Given the description of an element on the screen output the (x, y) to click on. 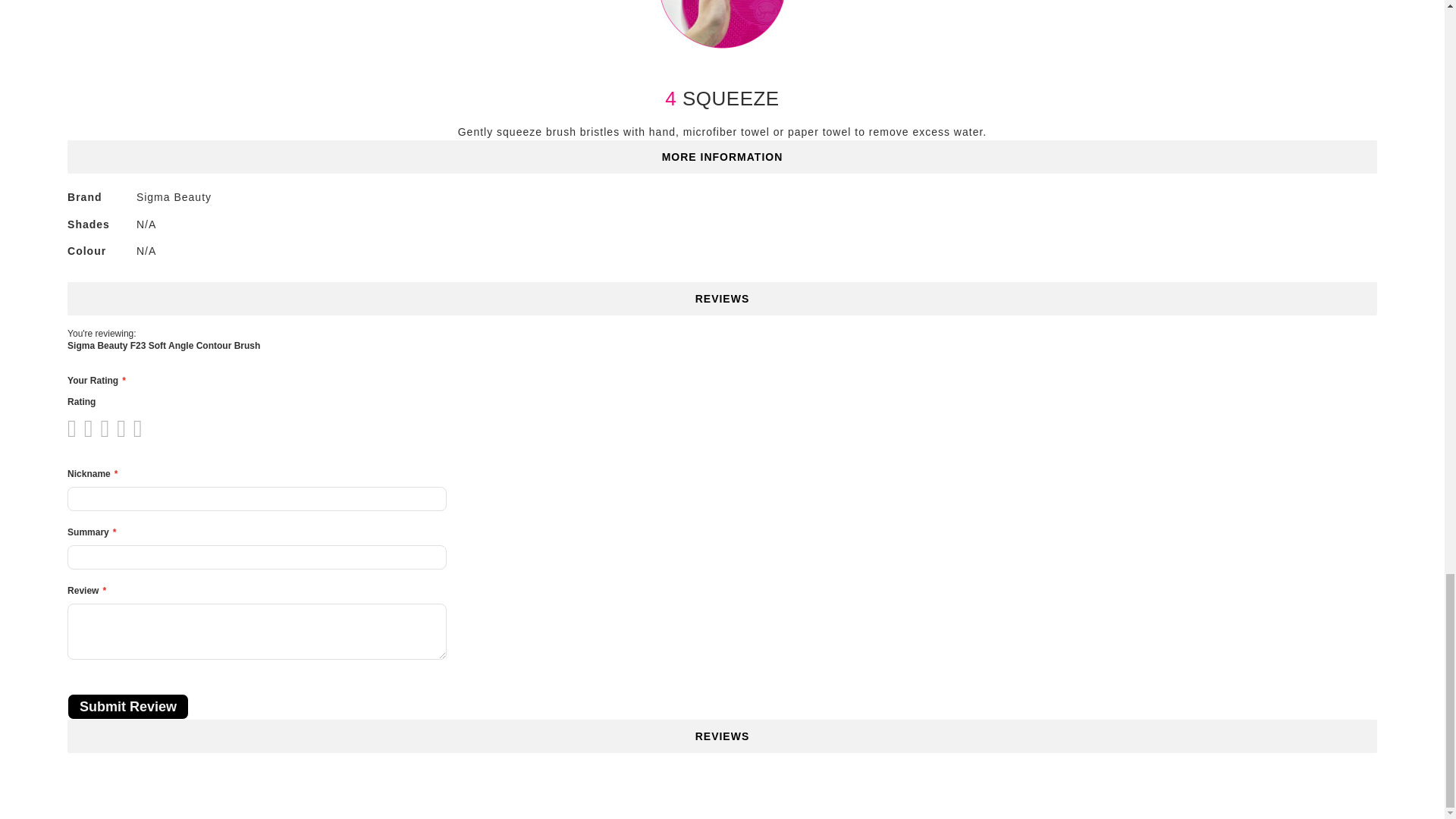
4 stars (99, 428)
2 stars (83, 428)
5 stars (107, 428)
3 stars (91, 428)
